Given the description of an element on the screen output the (x, y) to click on. 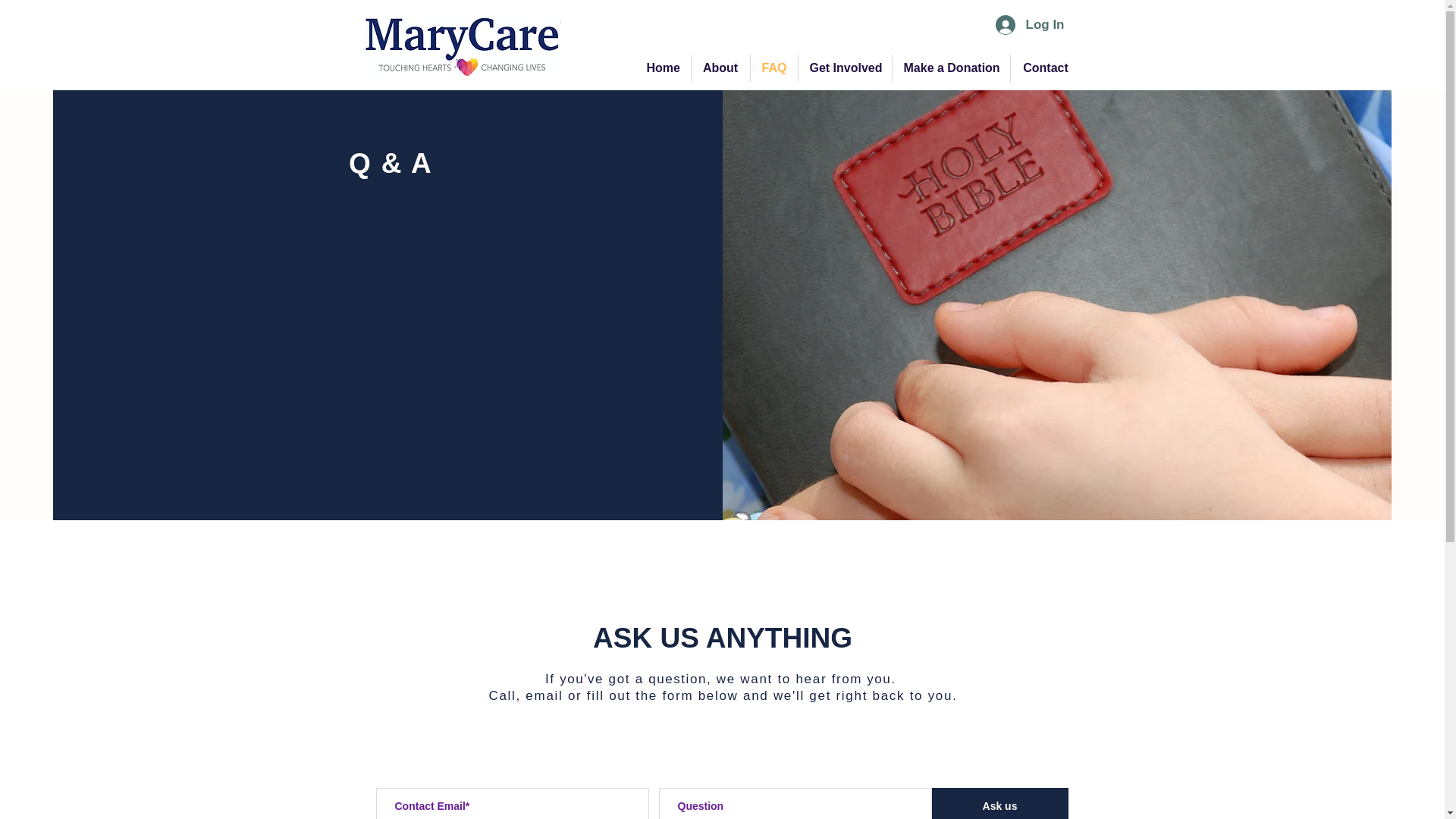
About (720, 67)
Make a Donation (950, 67)
Home (662, 67)
Ask us (999, 803)
FAQ (774, 67)
Contact (1045, 67)
Log In (1030, 24)
Get Involved (844, 67)
